Given the description of an element on the screen output the (x, y) to click on. 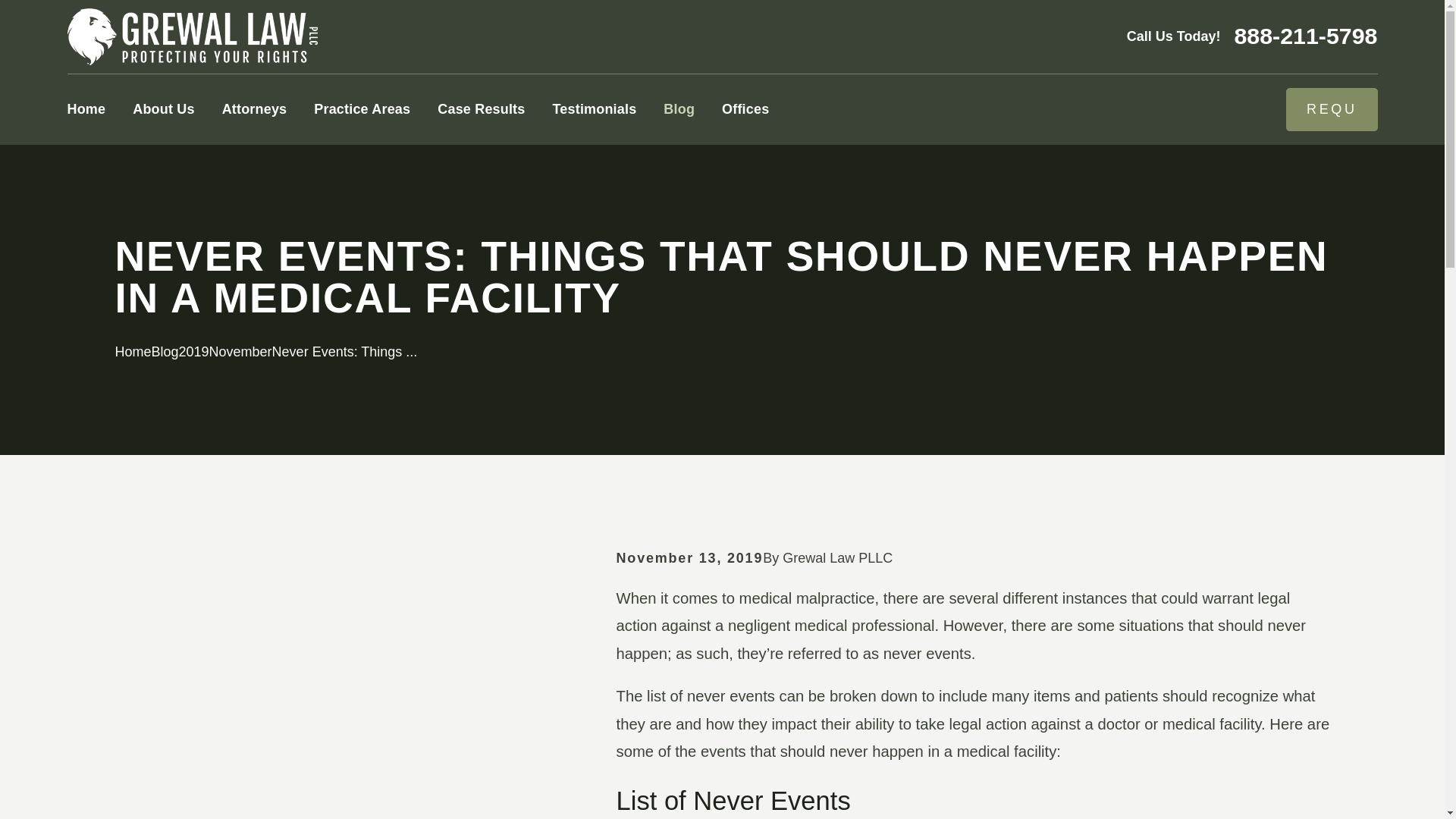
Go Home (133, 351)
888-211-5798 (1305, 36)
Case Results (481, 109)
About Us (162, 109)
Testimonials (593, 109)
Home (191, 36)
Practice Areas (362, 109)
Attorneys (254, 109)
Offices (745, 109)
